Given the description of an element on the screen output the (x, y) to click on. 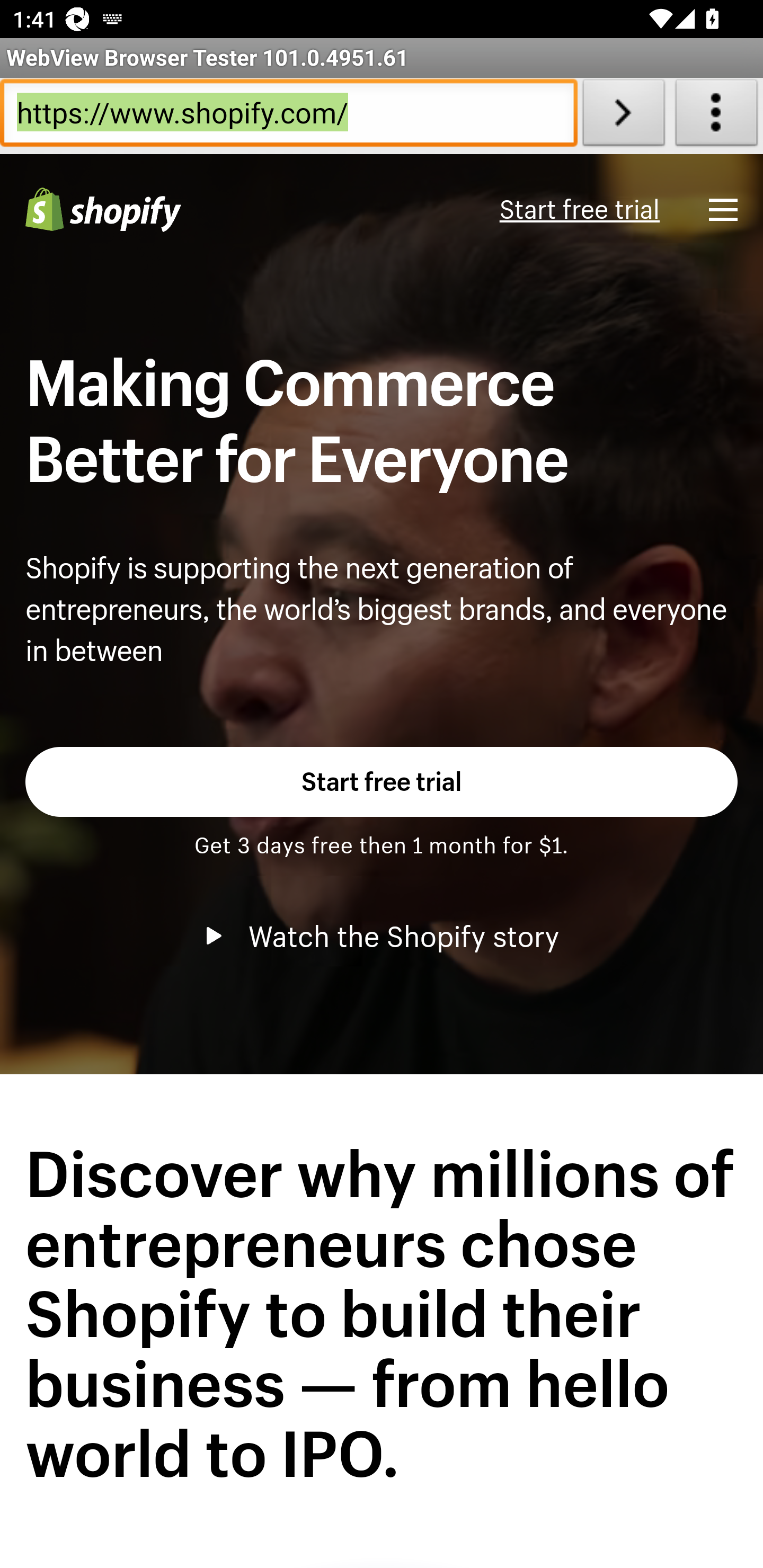
https://www.shopify.com/ (288, 115)
Load URL (623, 115)
About WebView (716, 115)
Menu (723, 208)
Shopify (103, 210)
Start free trial (579, 209)
Start free trial (381, 781)
Watch the Shopify story (381, 936)
